Given the description of an element on the screen output the (x, y) to click on. 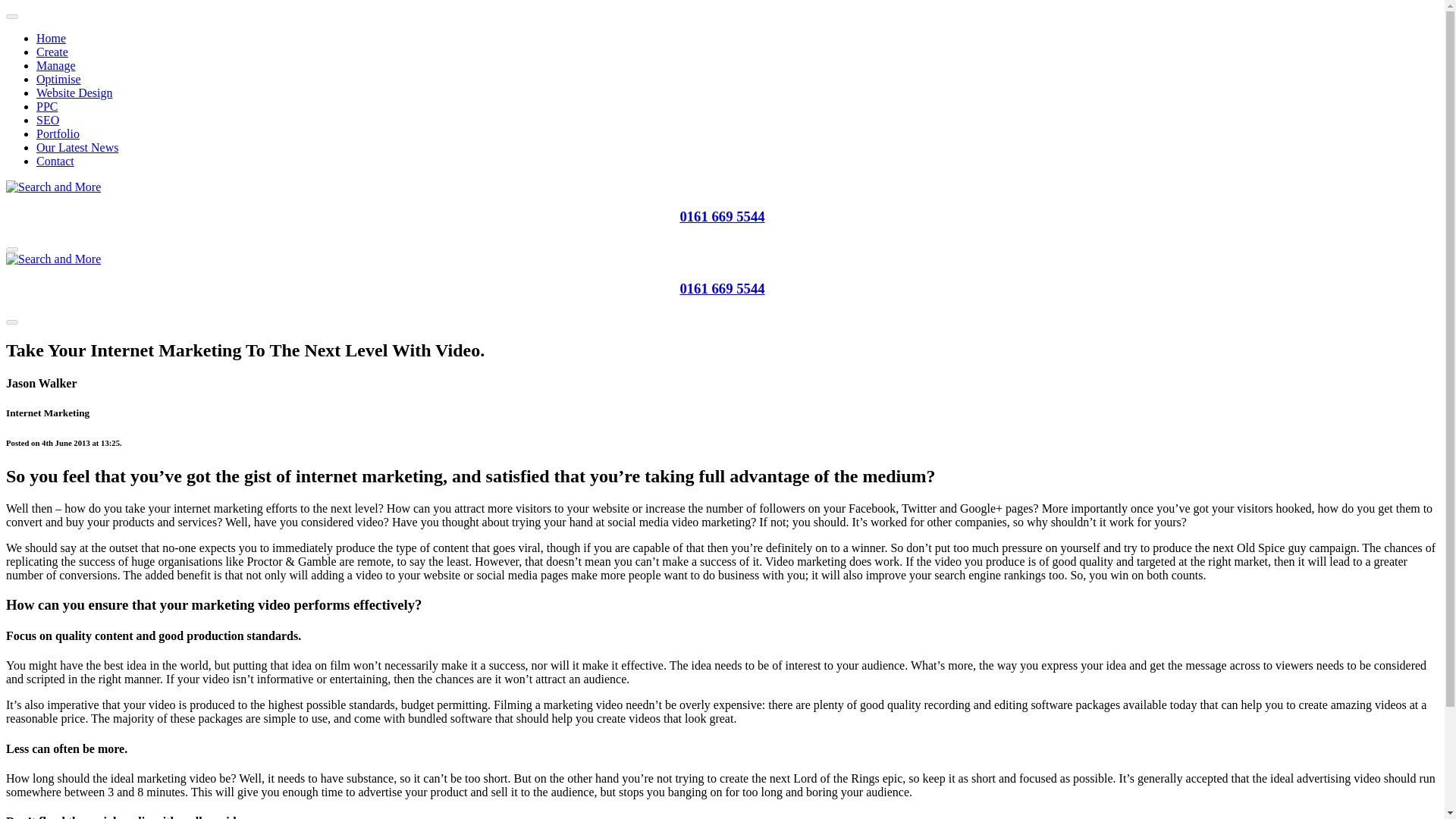
PPC (47, 106)
Portfolio (58, 133)
Create (52, 51)
Portfolio (58, 133)
Manage (55, 65)
Manage (55, 65)
Contact (55, 160)
Optimise (58, 78)
Create (52, 51)
Website Design (74, 92)
